Given the description of an element on the screen output the (x, y) to click on. 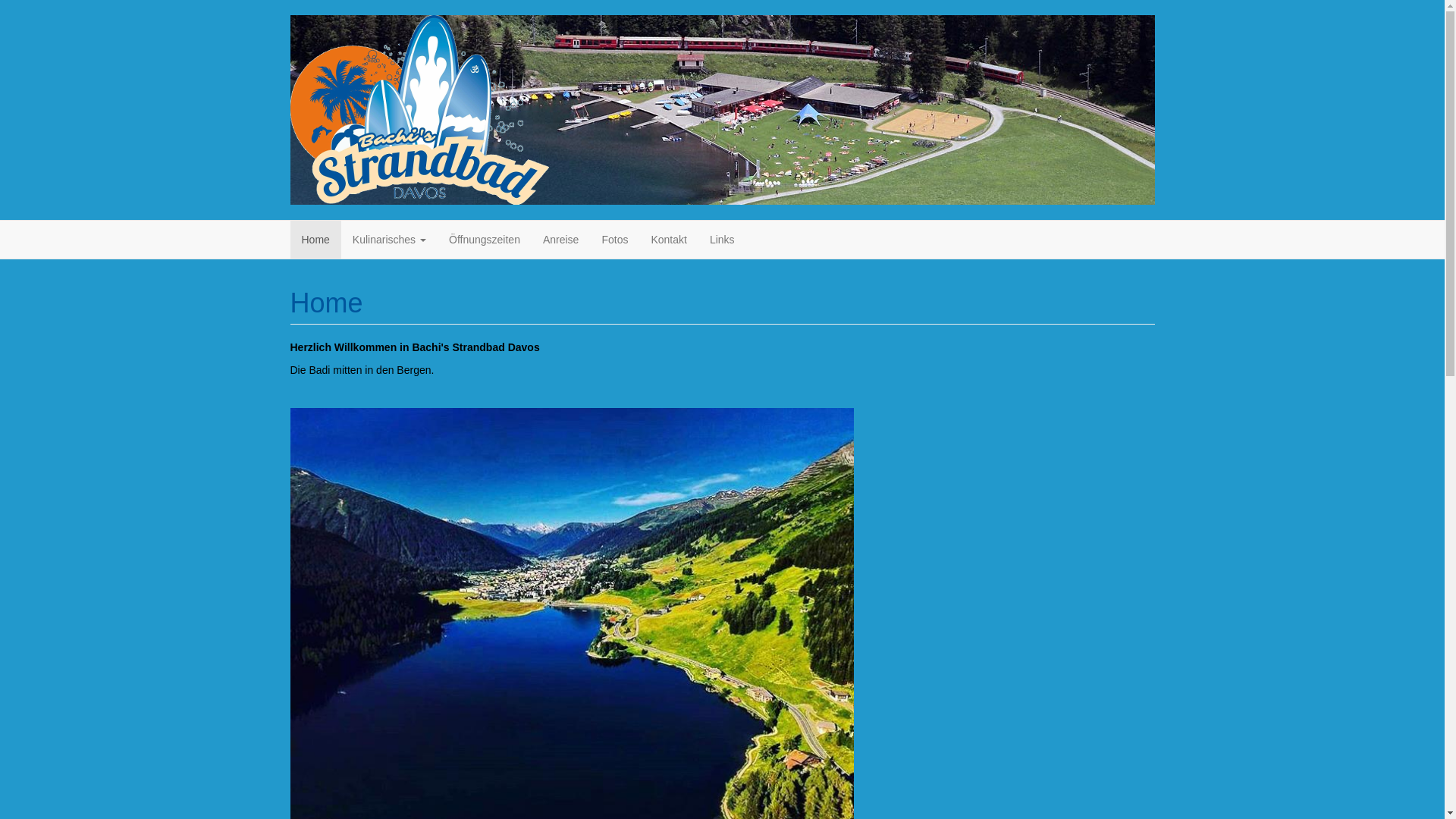
Fotos Element type: text (614, 239)
Kontakt Element type: text (668, 239)
Bachi's Strandbad Element type: hover (418, 109)
Home Element type: text (314, 239)
Kulinarisches Element type: text (389, 239)
Anreise Element type: text (560, 239)
Links Element type: text (722, 239)
